Given the description of an element on the screen output the (x, y) to click on. 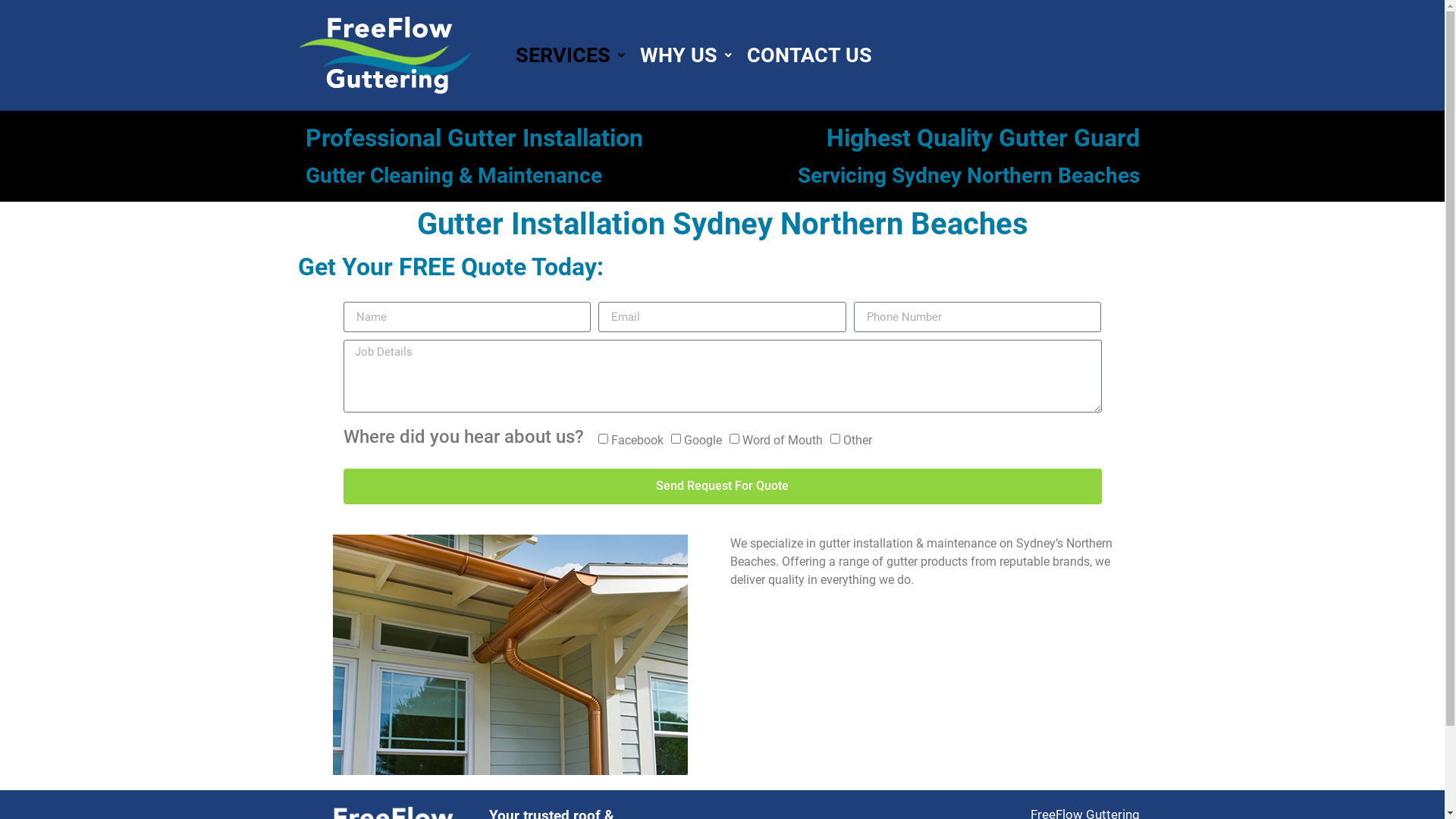
SERVICES Element type: text (570, 54)
Servicing Sydney Northern Beaches Element type: text (968, 175)
Send Request For Quote Element type: text (721, 486)
Highest Quality Gutter Guard Element type: text (982, 137)
Professional Gutter Installation Element type: text (473, 137)
WHY US Element type: text (685, 54)
CONTACT US Element type: text (809, 54)
Gutter Cleaning & Maintenance Element type: text (452, 175)
